Given the description of an element on the screen output the (x, y) to click on. 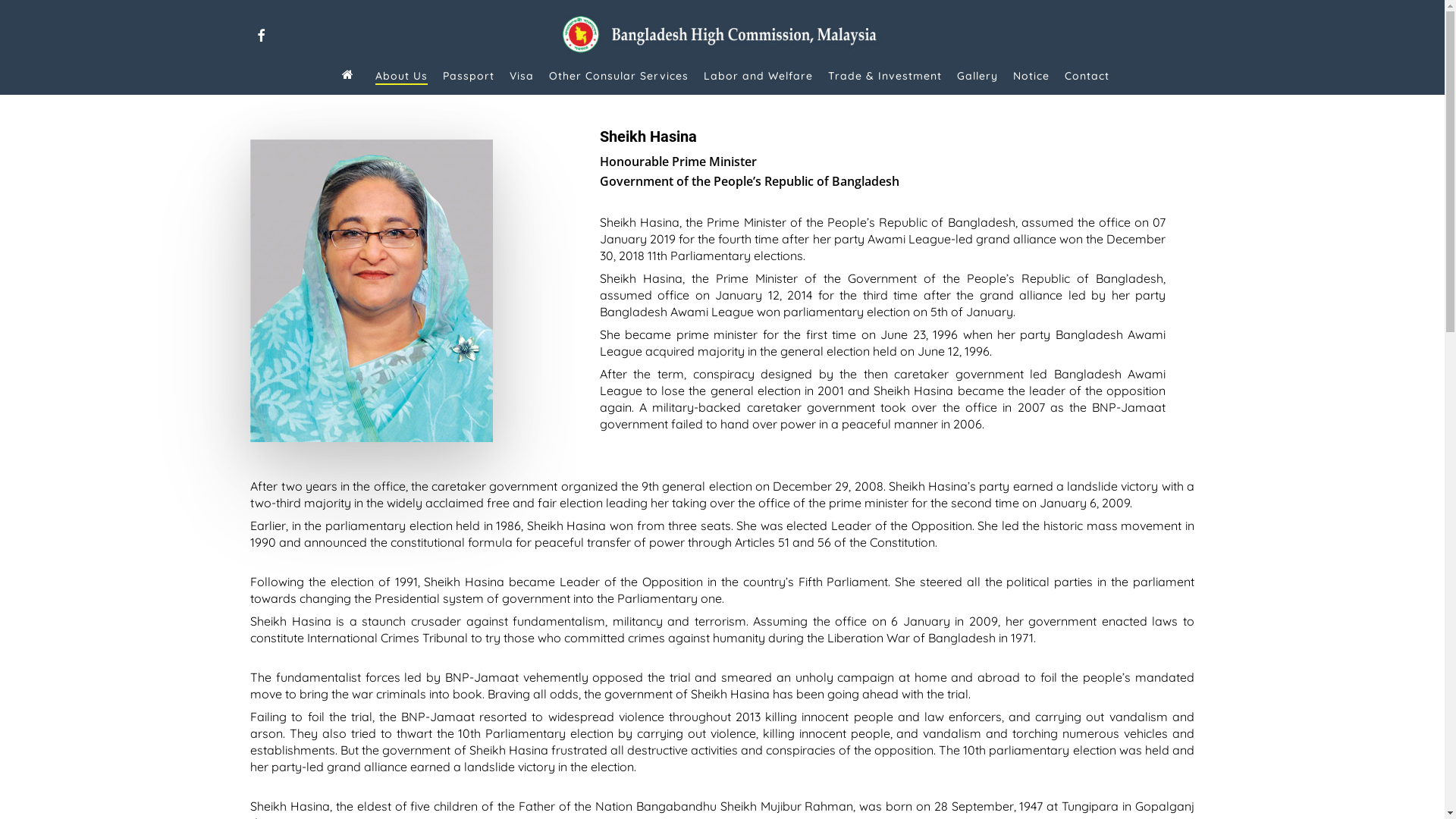
facebook Element type: text (260, 33)
Other Consular Services Element type: text (618, 75)
Trade & Investment Element type: text (884, 75)
Gallery Element type: text (977, 75)
Contact Element type: text (1086, 75)
Passport Element type: text (468, 75)
Notice Element type: text (1031, 75)
Visa Element type: text (521, 75)
About Us Element type: text (400, 75)
Labor and Welfare Element type: text (757, 75)
